Given the description of an element on the screen output the (x, y) to click on. 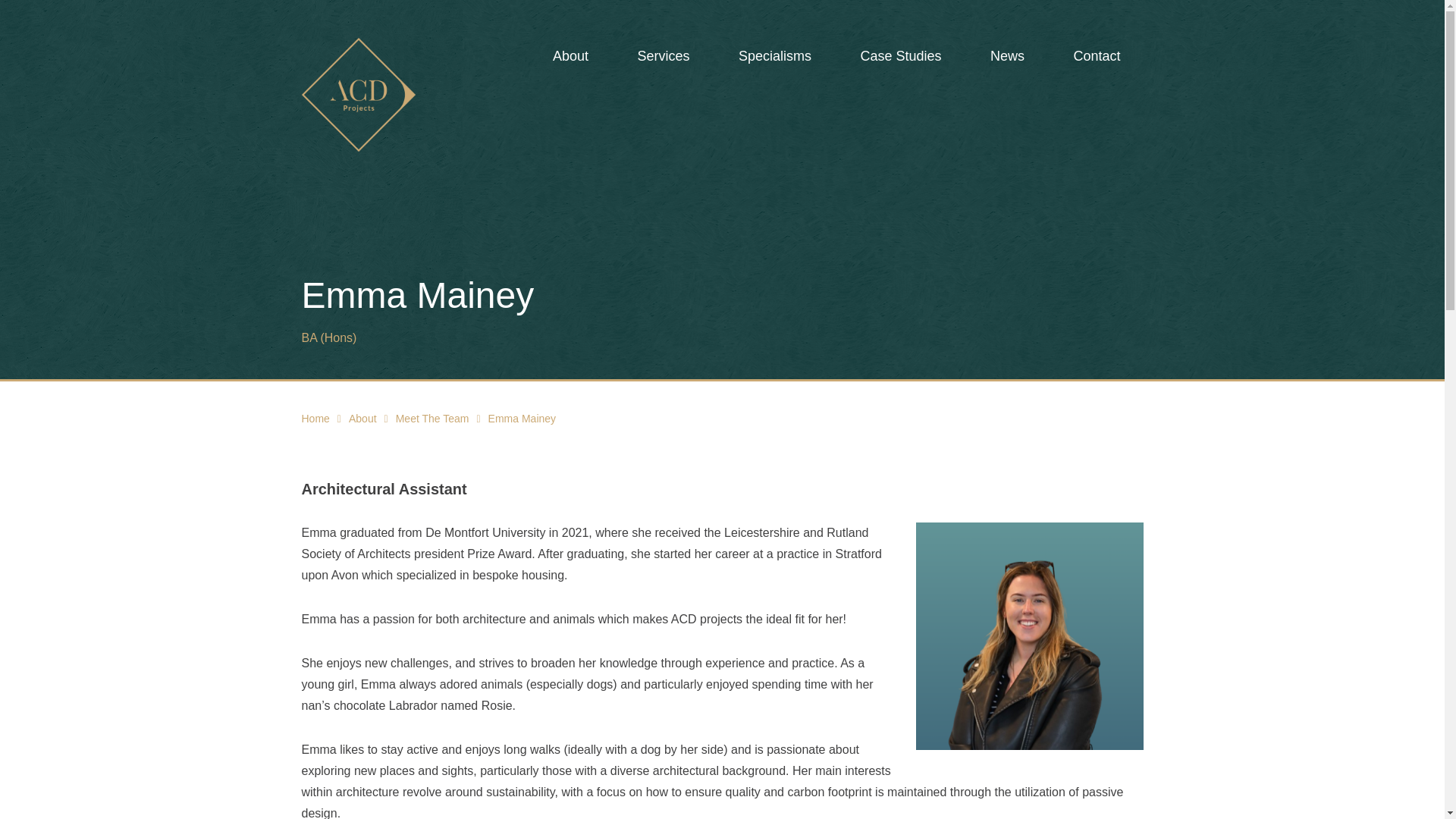
About (570, 55)
Services (662, 55)
